Given the description of an element on the screen output the (x, y) to click on. 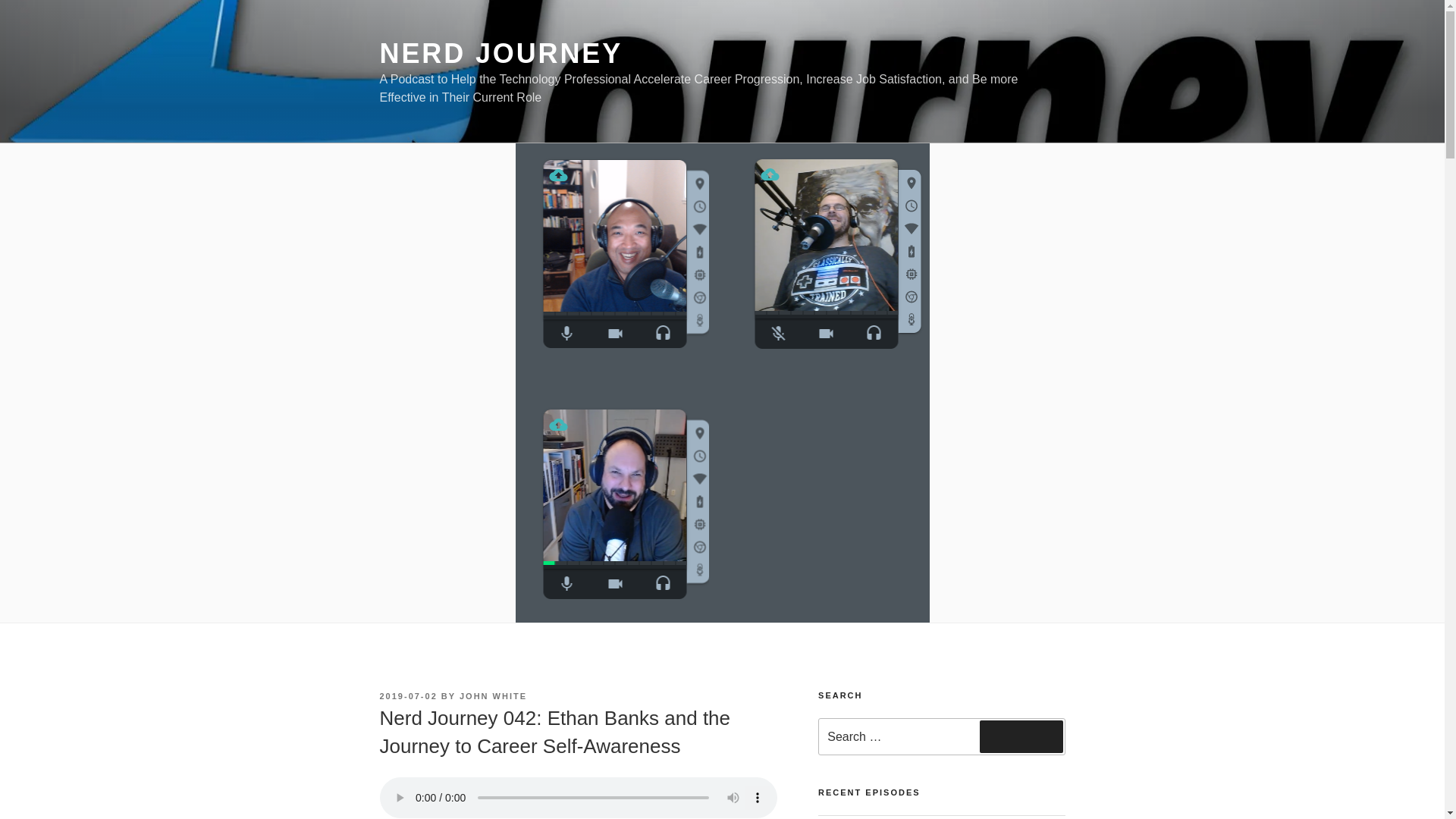
Search (1020, 736)
NERD JOURNEY (500, 52)
2019-07-02 (407, 696)
JOHN WHITE (493, 696)
